Given the description of an element on the screen output the (x, y) to click on. 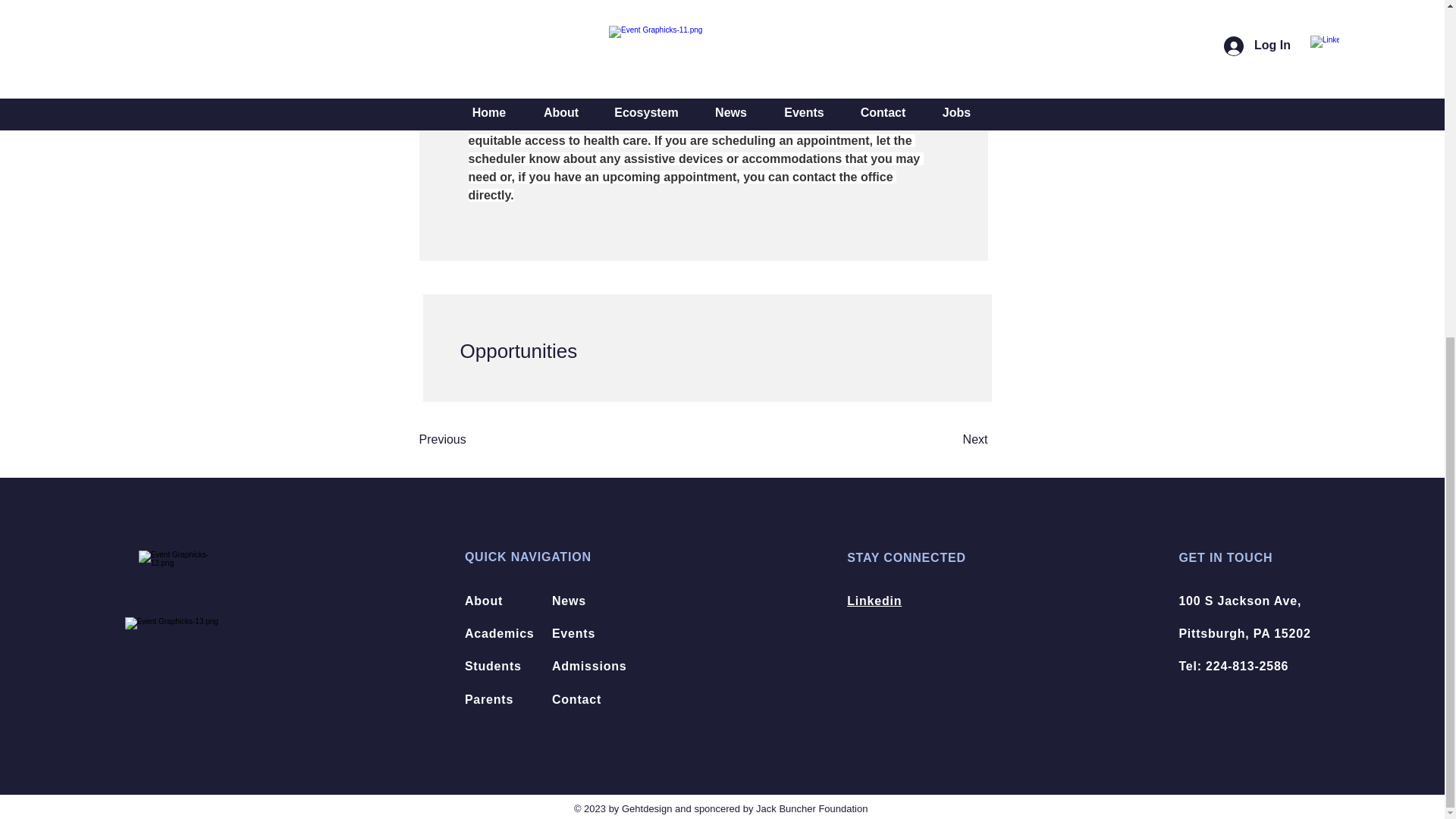
Admissions (589, 666)
News (568, 600)
Linkedin (874, 600)
About (483, 600)
Parents (488, 698)
Academics (499, 633)
Next (949, 440)
Previous (467, 440)
Students (492, 666)
Contact (576, 698)
Events (573, 633)
